Given the description of an element on the screen output the (x, y) to click on. 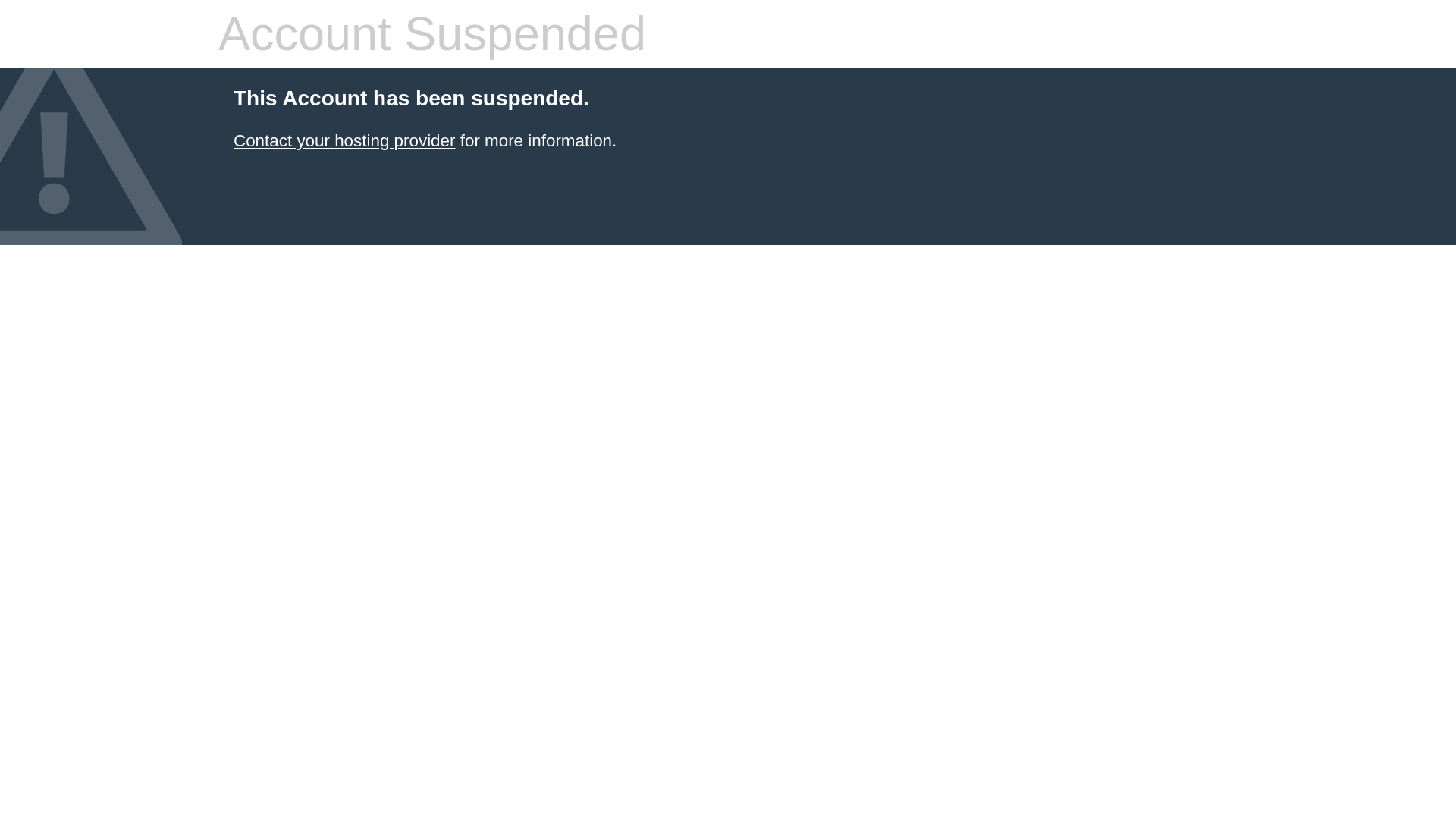
Contact your hosting provider (343, 140)
